Given the description of an element on the screen output the (x, y) to click on. 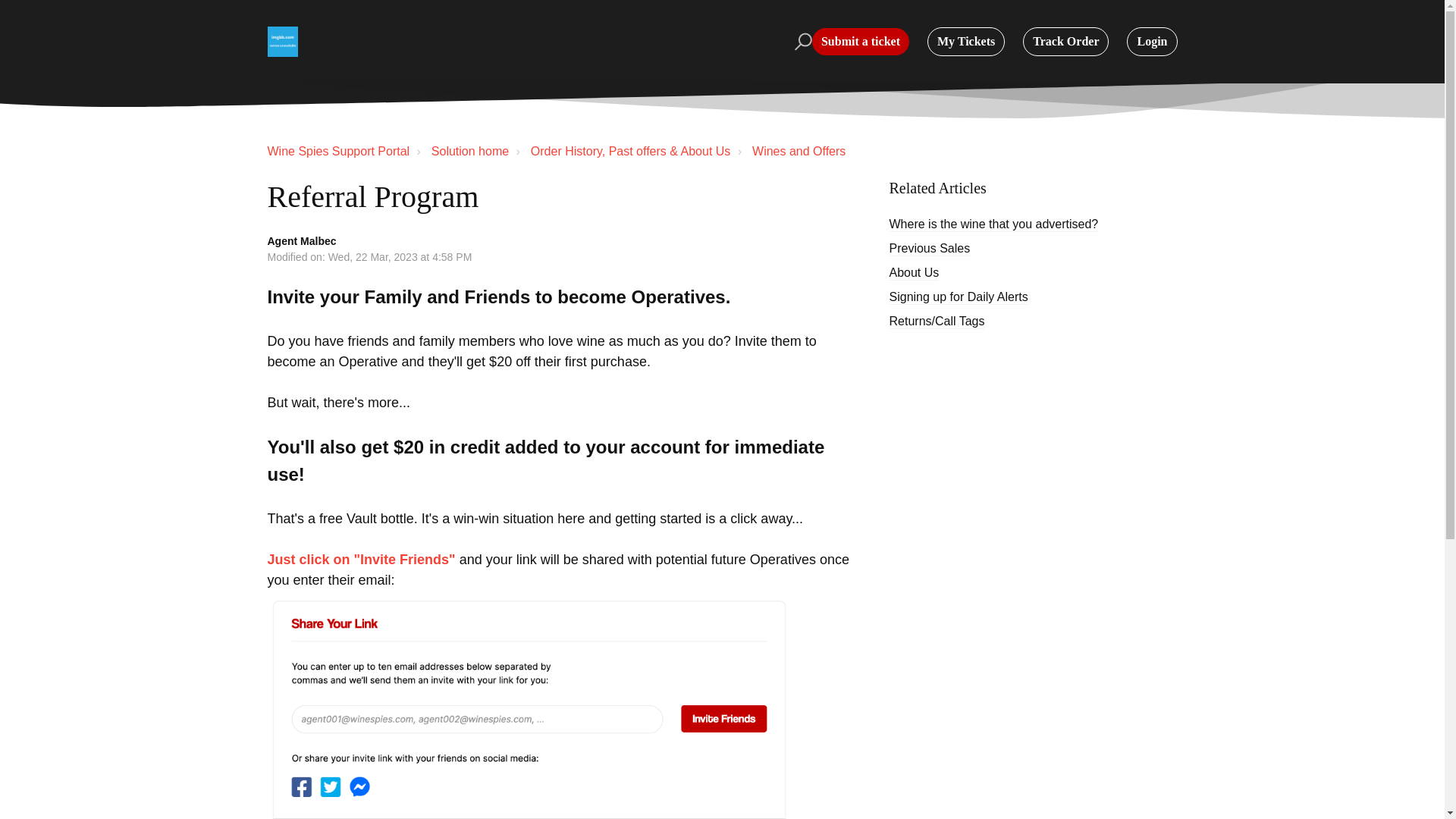
Solution home (469, 151)
My Tickets (965, 41)
Where is the wine that you advertised? (992, 224)
Track Order (1065, 41)
Submit a ticket (860, 41)
Signing up for Daily Alerts (957, 297)
Wine Spies Support Portal (337, 151)
Just click on "Invite Friends" (360, 559)
About Us (913, 273)
Wines and Offers (789, 151)
